Given the description of an element on the screen output the (x, y) to click on. 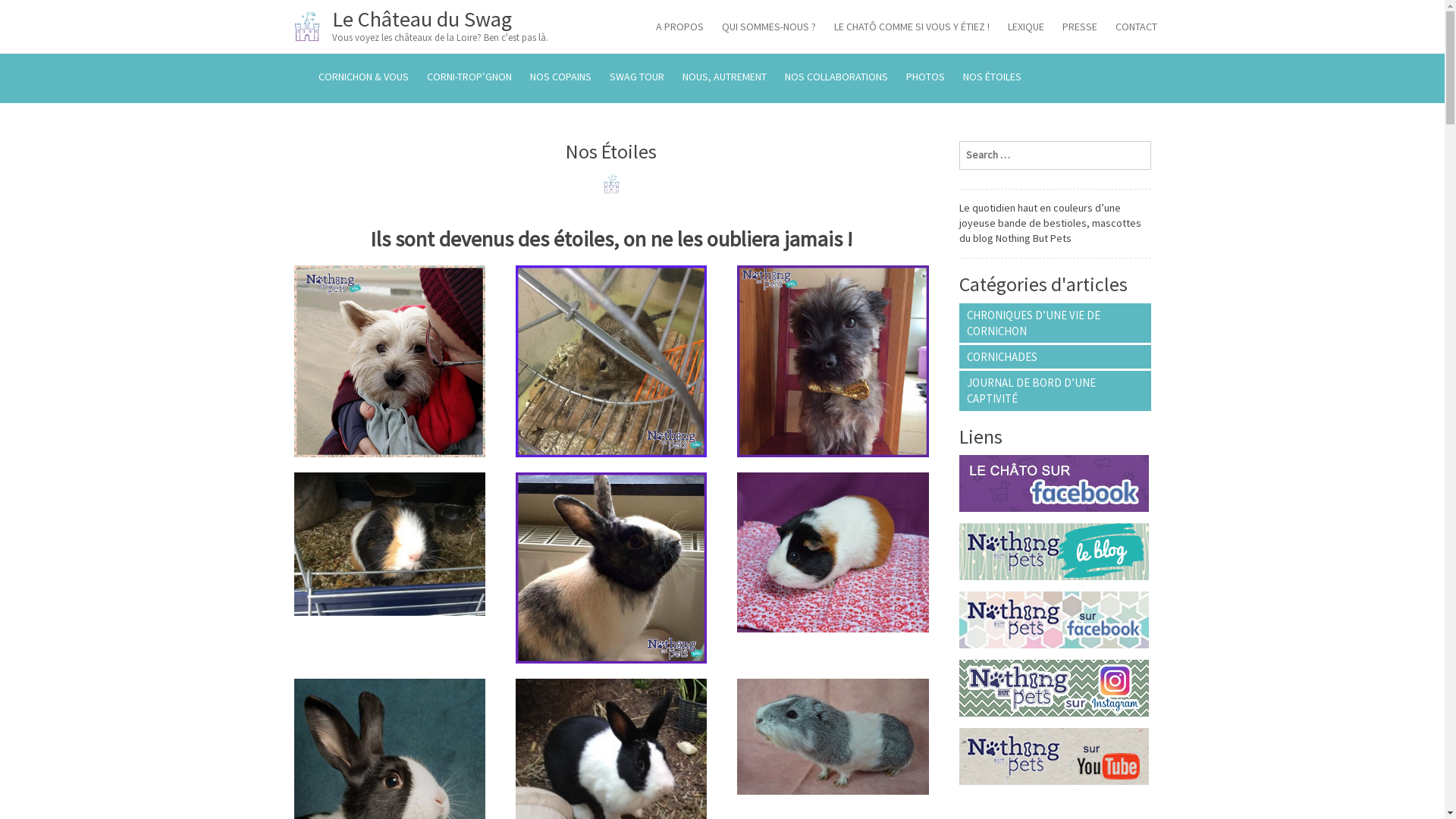
NOS COPAINS Element type: text (559, 78)
CORNICHADES Element type: text (1055, 356)
CONTACT Element type: text (1135, 28)
A PROPOS Element type: text (679, 28)
PHOTOS Element type: text (924, 78)
Site Web de Nothing But Pets Element type: hover (1055, 551)
NOUS, AUTREMENT Element type: text (724, 78)
SWAG TOUR Element type: text (636, 78)
NOS COLLABORATIONS Element type: text (835, 78)
LEXIQUE Element type: text (1024, 28)
CORNICHON & VOUS Element type: text (363, 78)
Profil Instagram de Nothing But Pets Element type: hover (1055, 687)
Page Facebook de Nothing But Pets Element type: hover (1055, 619)
QUI SOMMES-NOUS ? Element type: text (768, 28)
ALLER AU CONTENU Element type: text (292, 53)
PRESSE Element type: text (1078, 28)
